Given the description of an element on the screen output the (x, y) to click on. 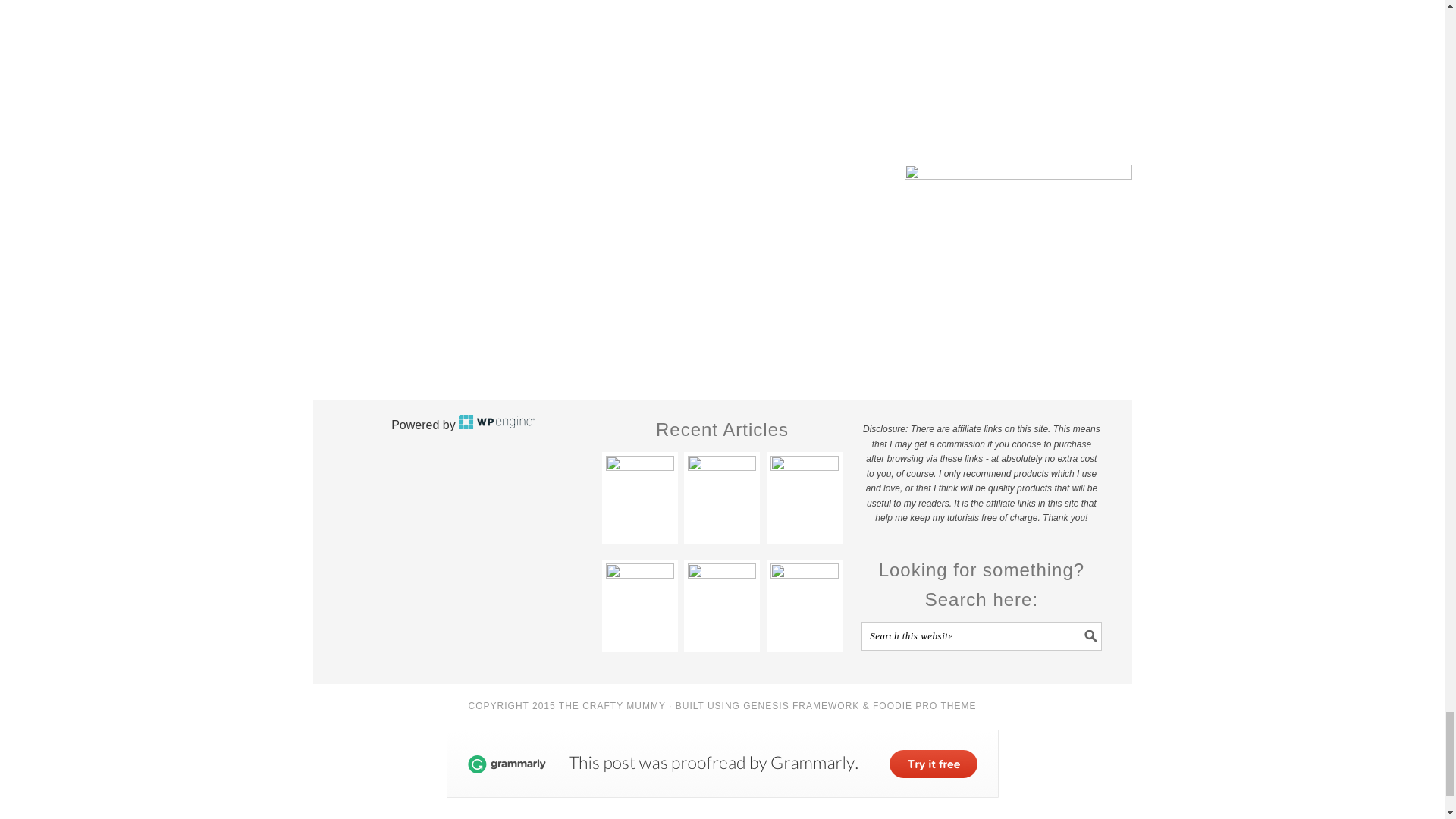
New Rainbow Cross Stitch Blocks (639, 489)
How to Canva: Colour Picker Tool (721, 489)
Crochet: Summer Cotton Poncho (721, 597)
9 Patterns to Sew a Laptop Case (804, 597)
Managed WordPress Hosting (496, 424)
How to Mend your Jeans using Sashiko Stitching (639, 597)
Is it too late to Sew a Quilt before Christmas? (804, 489)
